Given the description of an element on the screen output the (x, y) to click on. 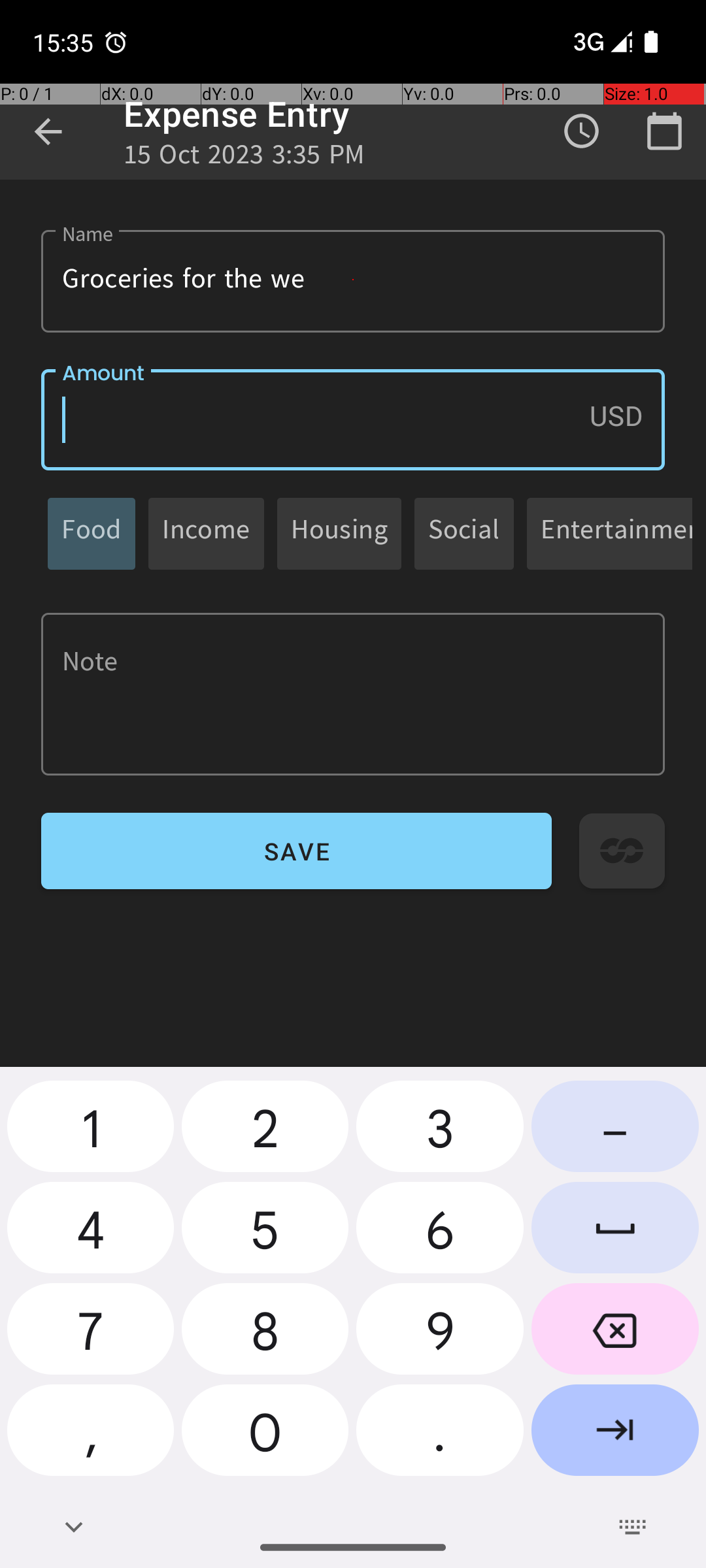
15 Oct 2023 3:35 PM Element type: android.widget.TextView (244, 157)
Groceries for the we Element type: android.widget.EditText (352, 280)
